Given the description of an element on the screen output the (x, y) to click on. 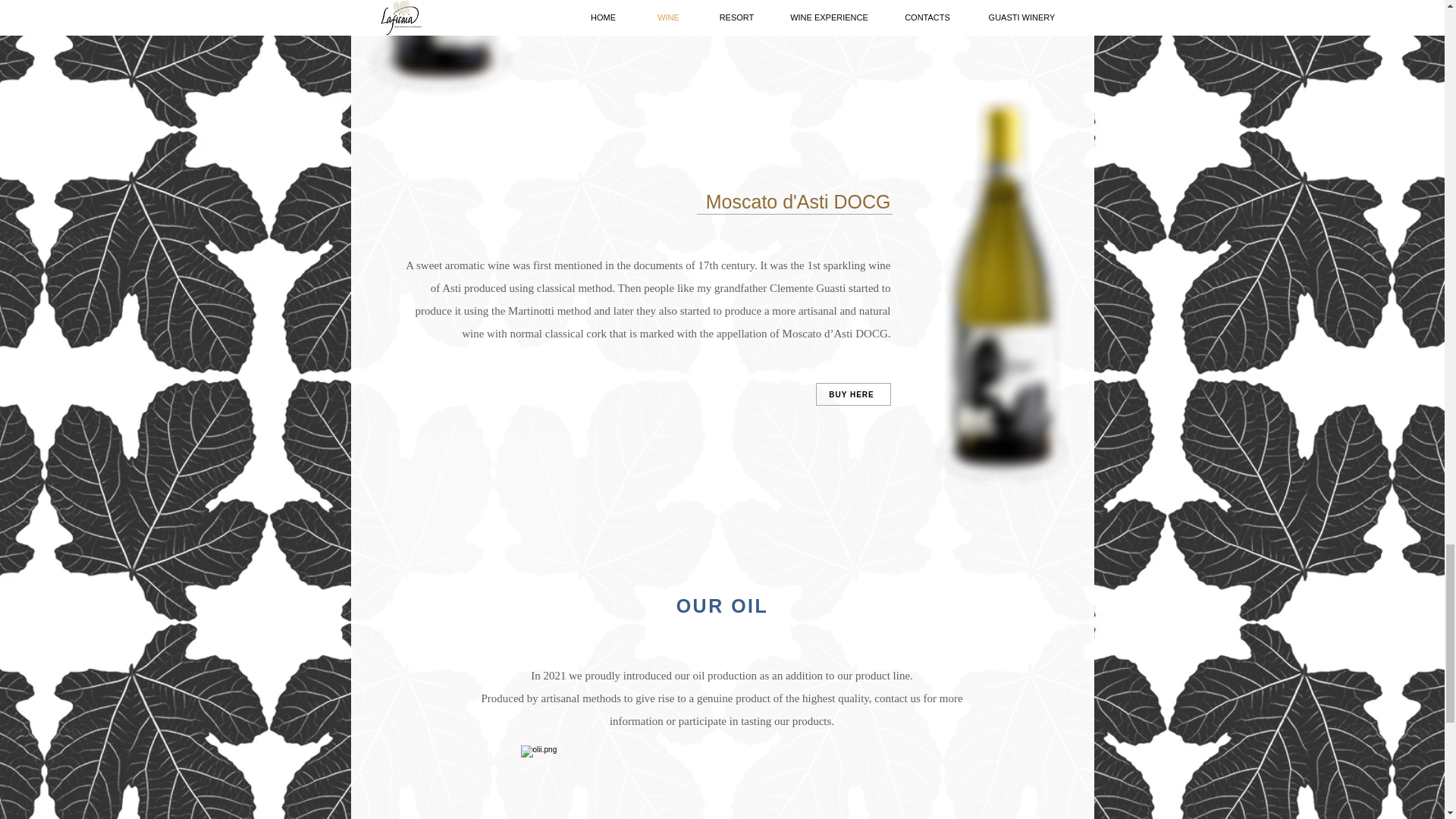
BUY HERE (853, 394)
BUY HERE (593, 23)
